Given the description of an element on the screen output the (x, y) to click on. 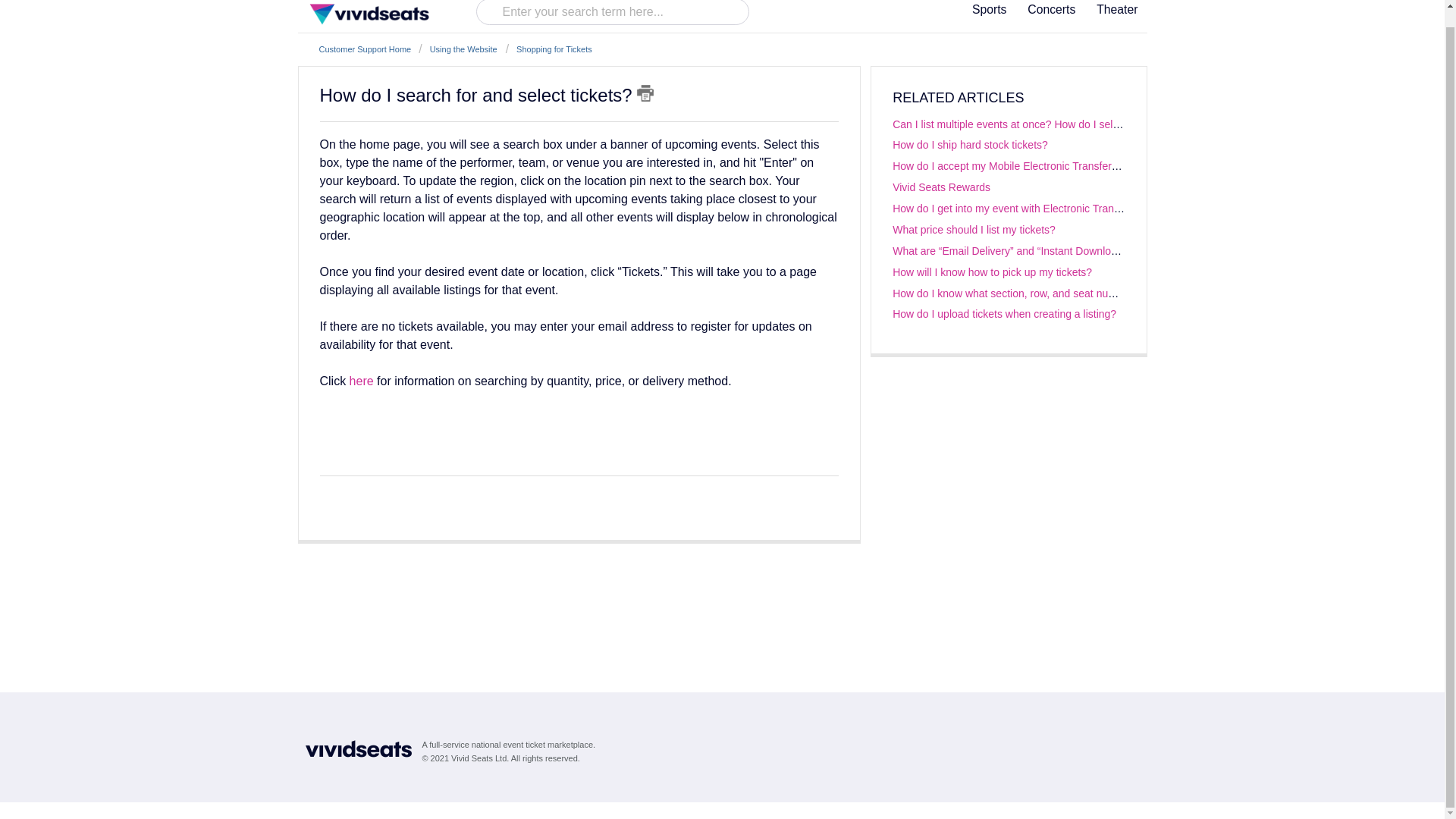
Using the Website (458, 49)
Shopping for Tickets (548, 49)
How do I ship hard stock tickets? (970, 144)
Vivid Seats Rewards (941, 186)
Norton Secured (1115, 749)
How do I accept my Mobile Electronic Transfer tickets? (1021, 165)
How do I upload tickets when creating a listing? (1004, 313)
What price should I list my tickets? (973, 229)
Sports (989, 14)
